Given the description of an element on the screen output the (x, y) to click on. 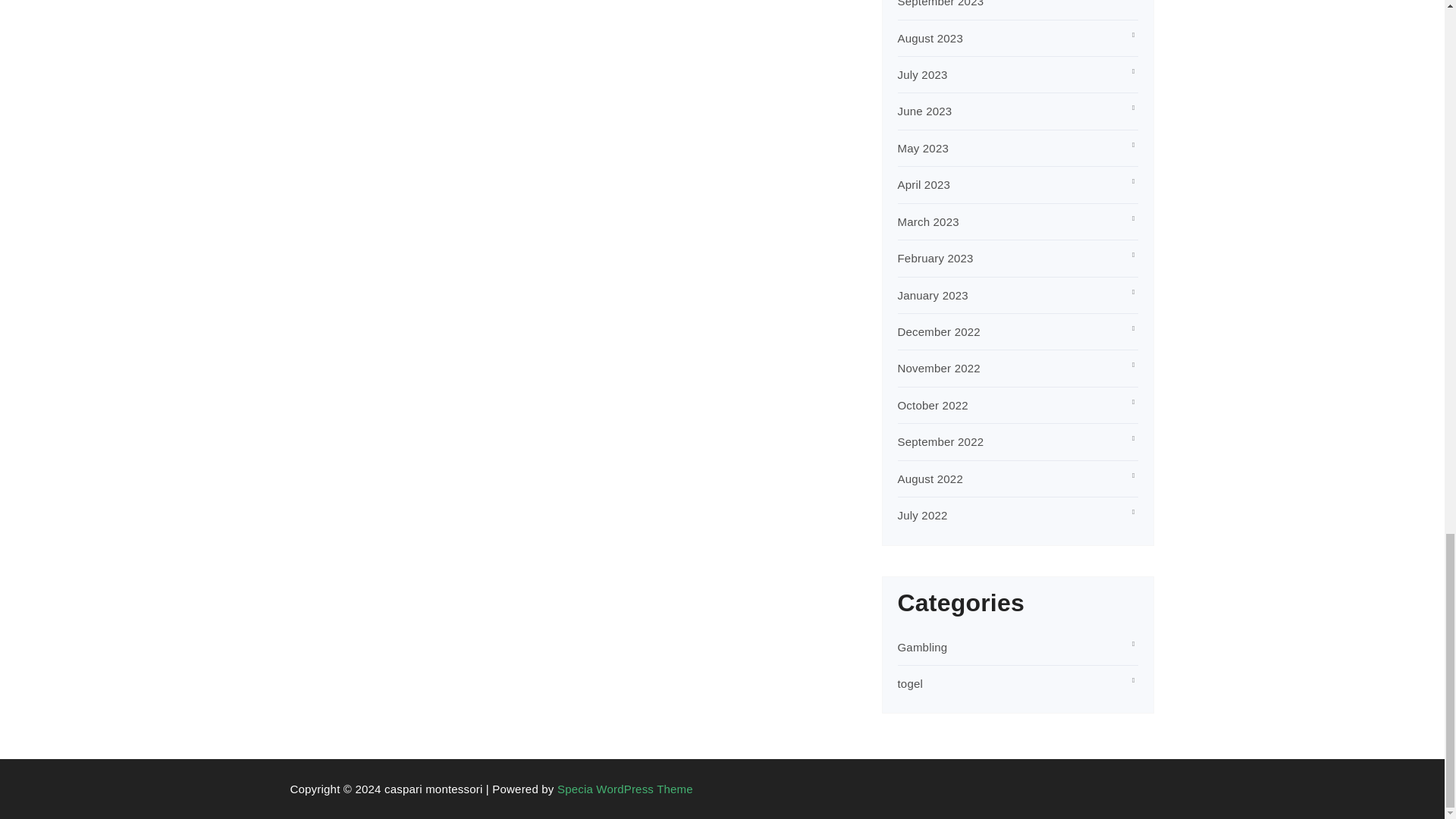
September 2023 (941, 3)
July 2023 (922, 74)
August 2023 (930, 38)
